Given the description of an element on the screen output the (x, y) to click on. 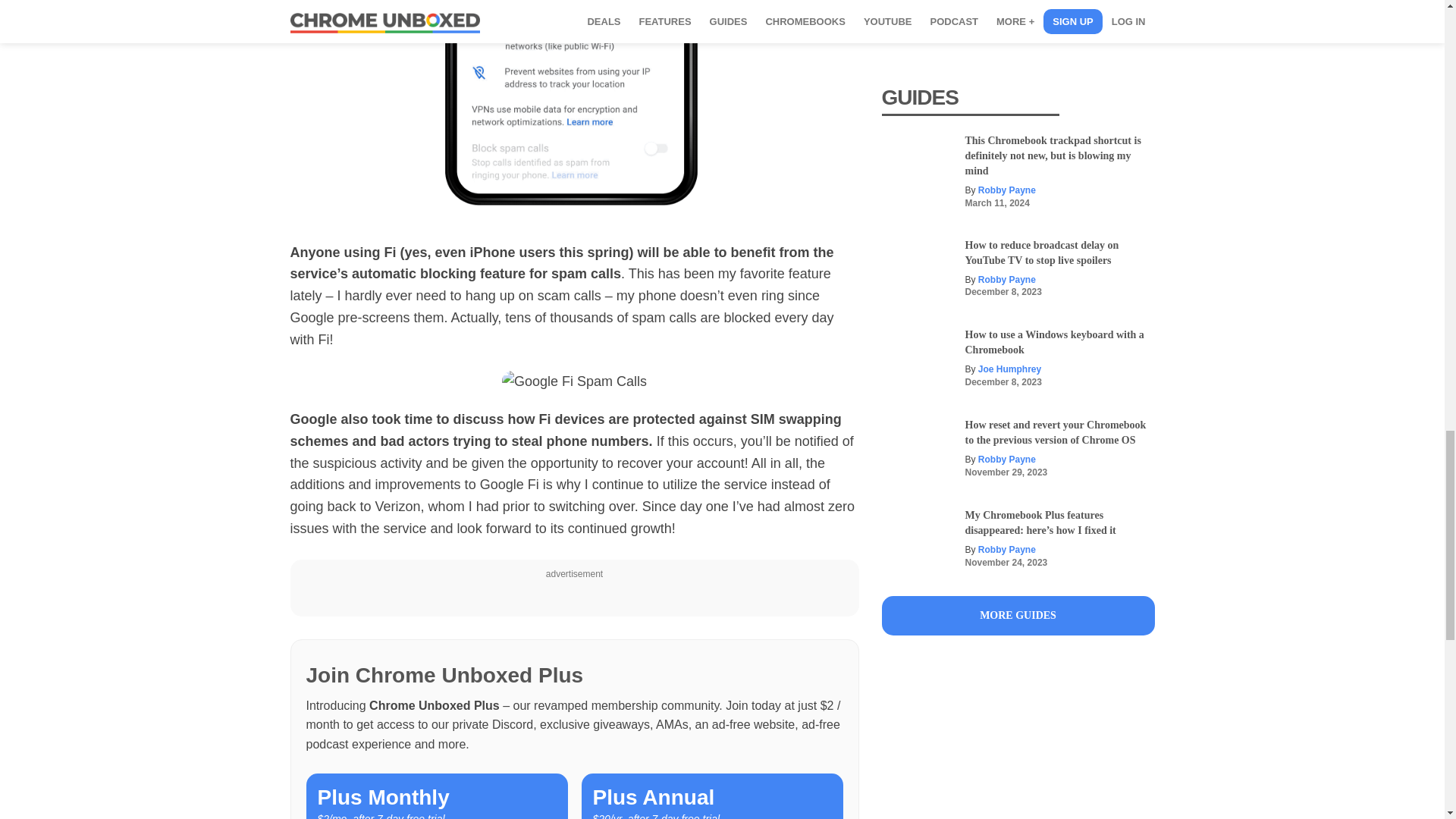
Guides and How-To's (1017, 615)
